Given the description of an element on the screen output the (x, y) to click on. 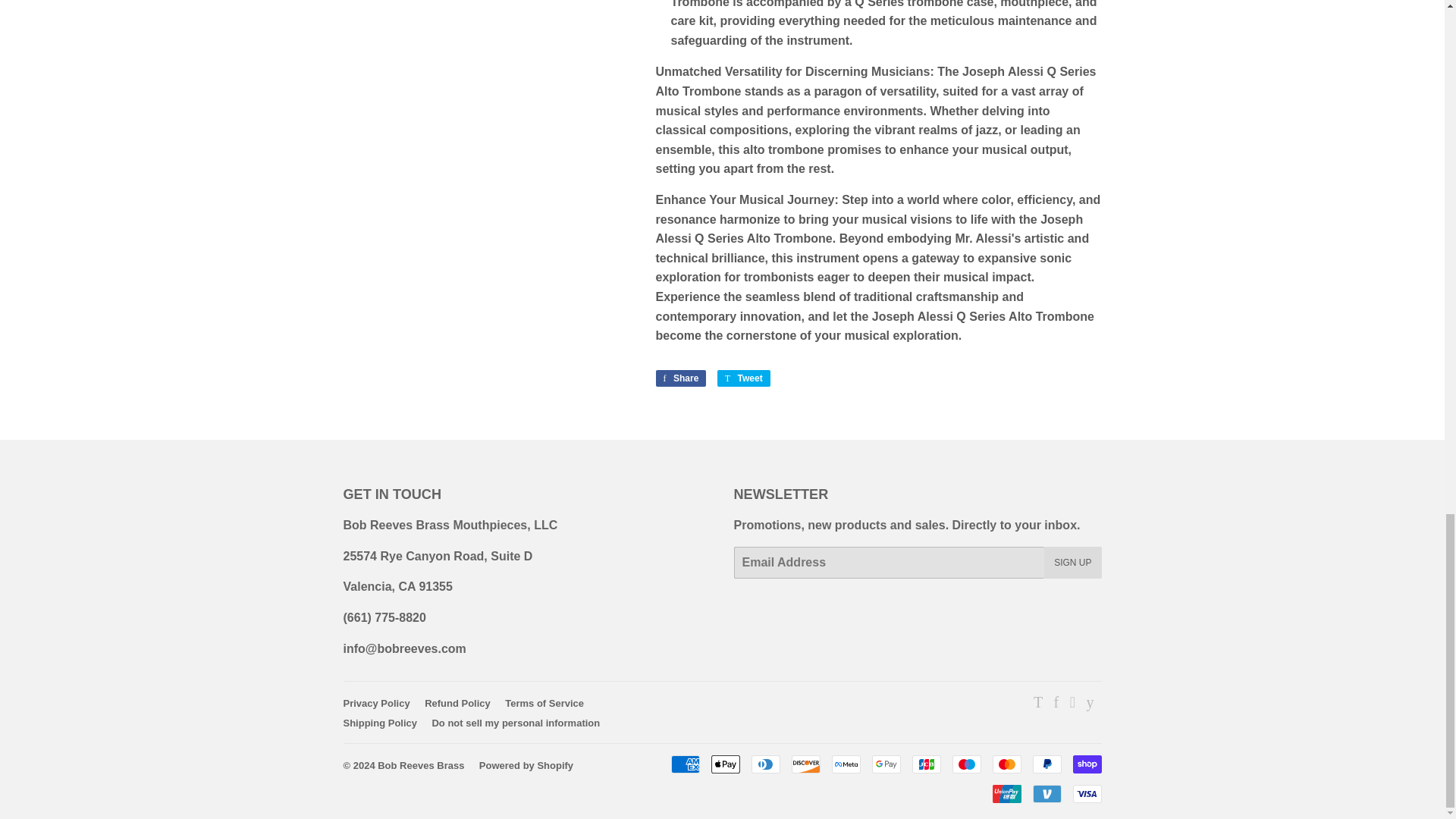
Venmo (1046, 793)
Visa (1085, 793)
Diners Club (764, 764)
Mastercard (1005, 764)
Google Pay (886, 764)
Share on Facebook (680, 378)
JCB (925, 764)
Tweet on Twitter (743, 378)
Maestro (966, 764)
Meta Pay (845, 764)
